Given the description of an element on the screen output the (x, y) to click on. 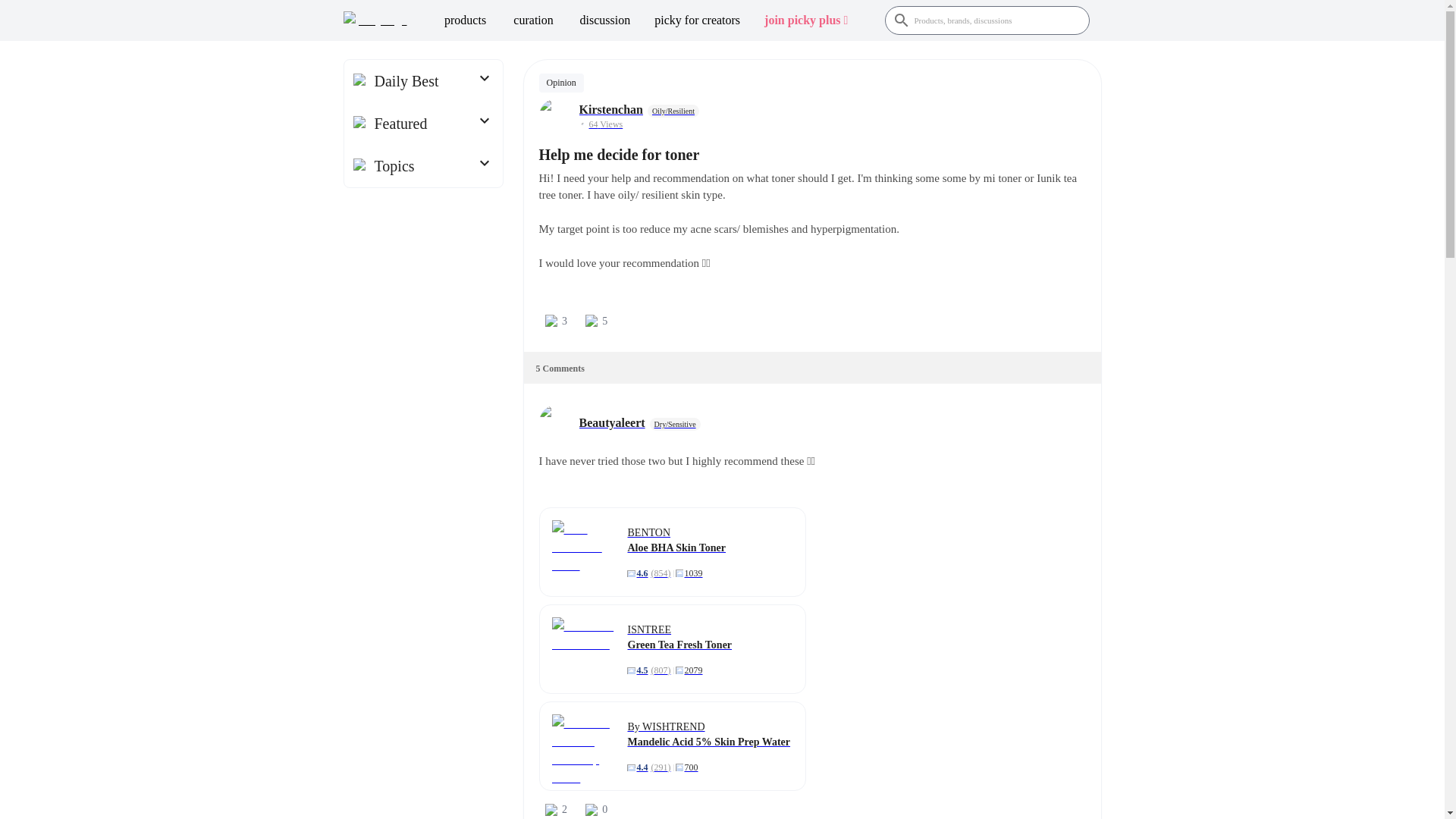
discussion (605, 20)
picky for creators (697, 20)
products (464, 20)
curation (533, 20)
